Given the description of an element on the screen output the (x, y) to click on. 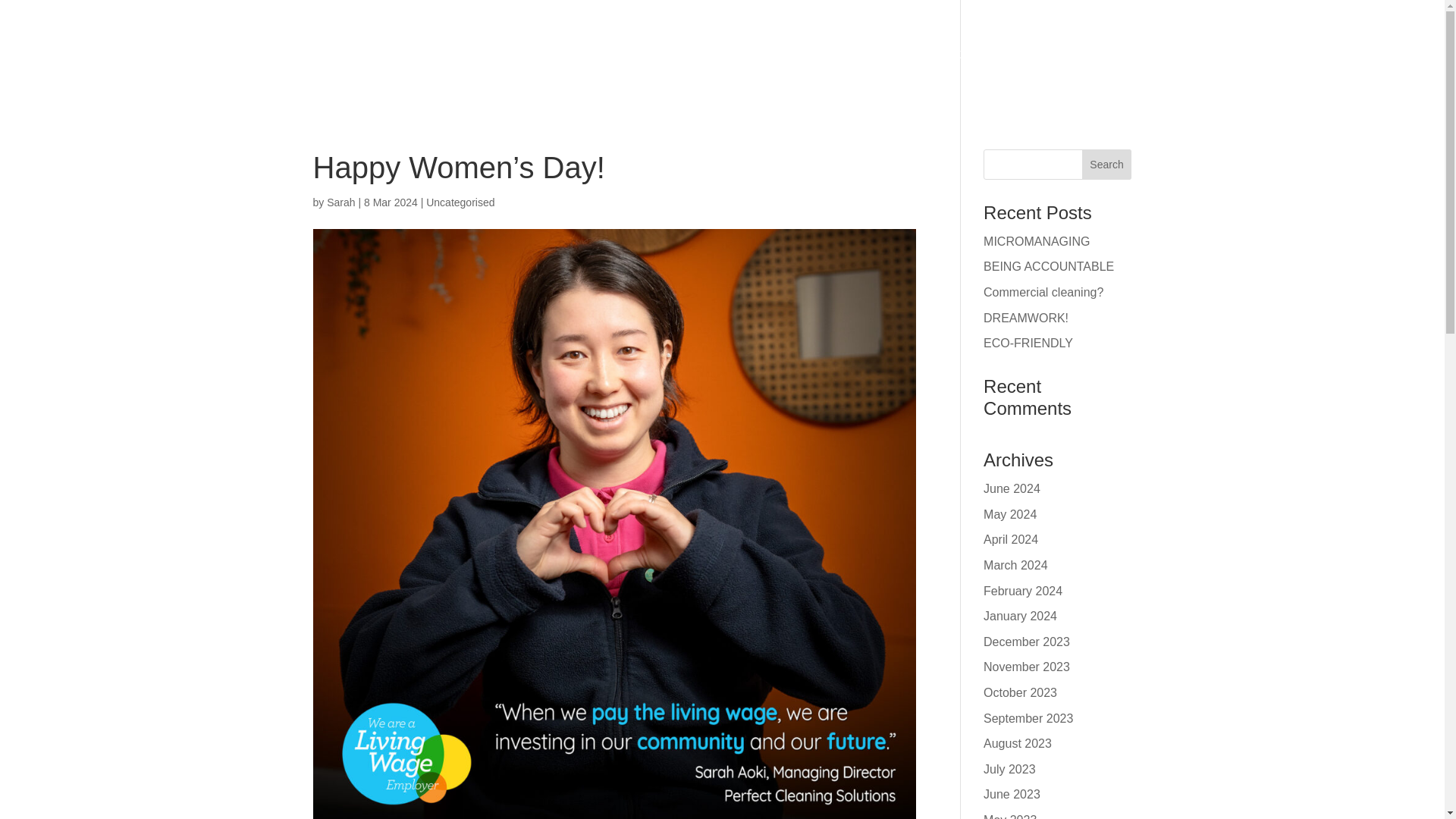
Sarah (340, 202)
ABOUT US. (602, 54)
CONTACT US. (965, 54)
SERVICES. (703, 54)
Search (1106, 164)
Posts by Sarah (340, 202)
CAREERS. (867, 54)
Search (1106, 164)
NEWS. (787, 54)
CASE STUDIES. (1080, 54)
Uncategorised (460, 202)
